Given the description of an element on the screen output the (x, y) to click on. 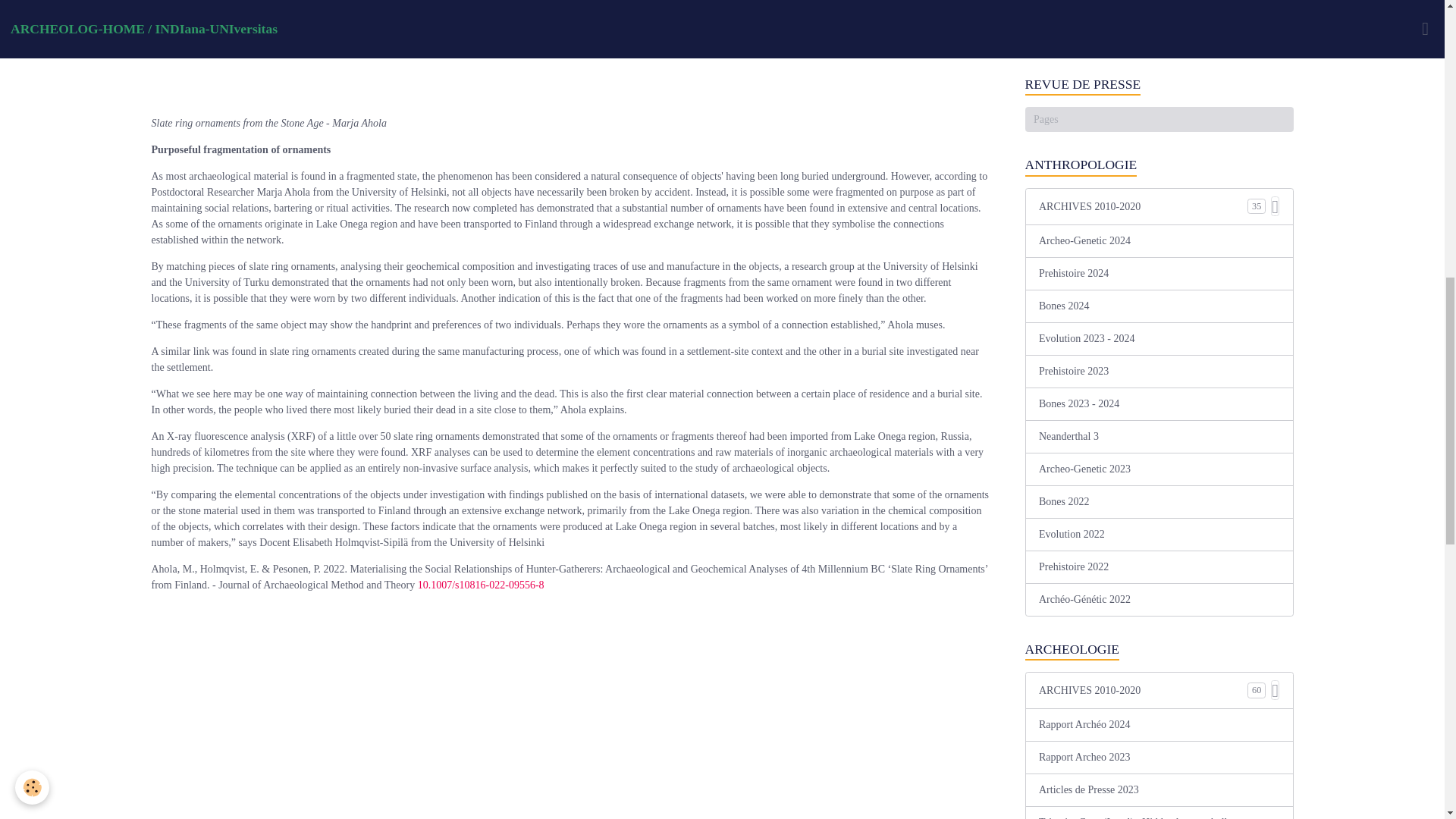
REVUE DE PRESSE (1159, 84)
